Given the description of an element on the screen output the (x, y) to click on. 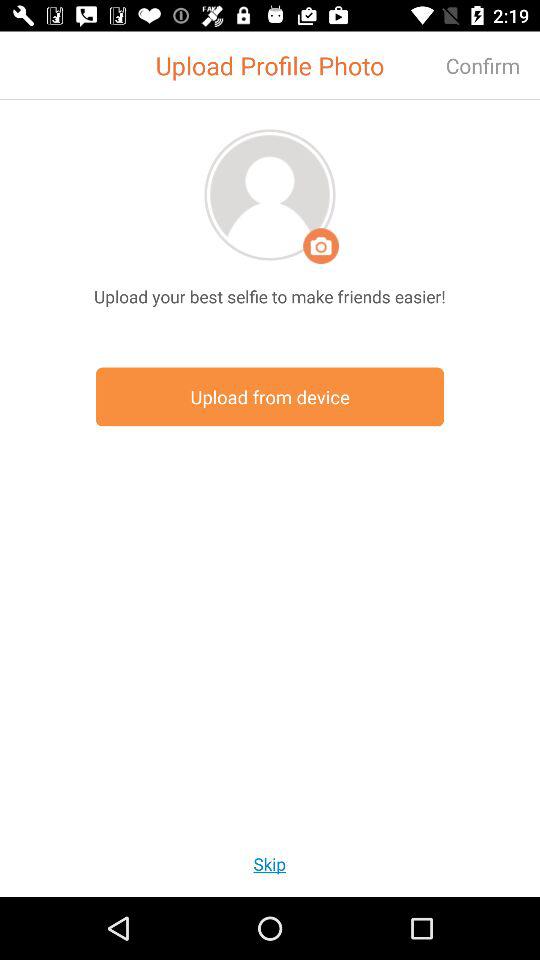
flip to the upload from device app (270, 396)
